Given the description of an element on the screen output the (x, y) to click on. 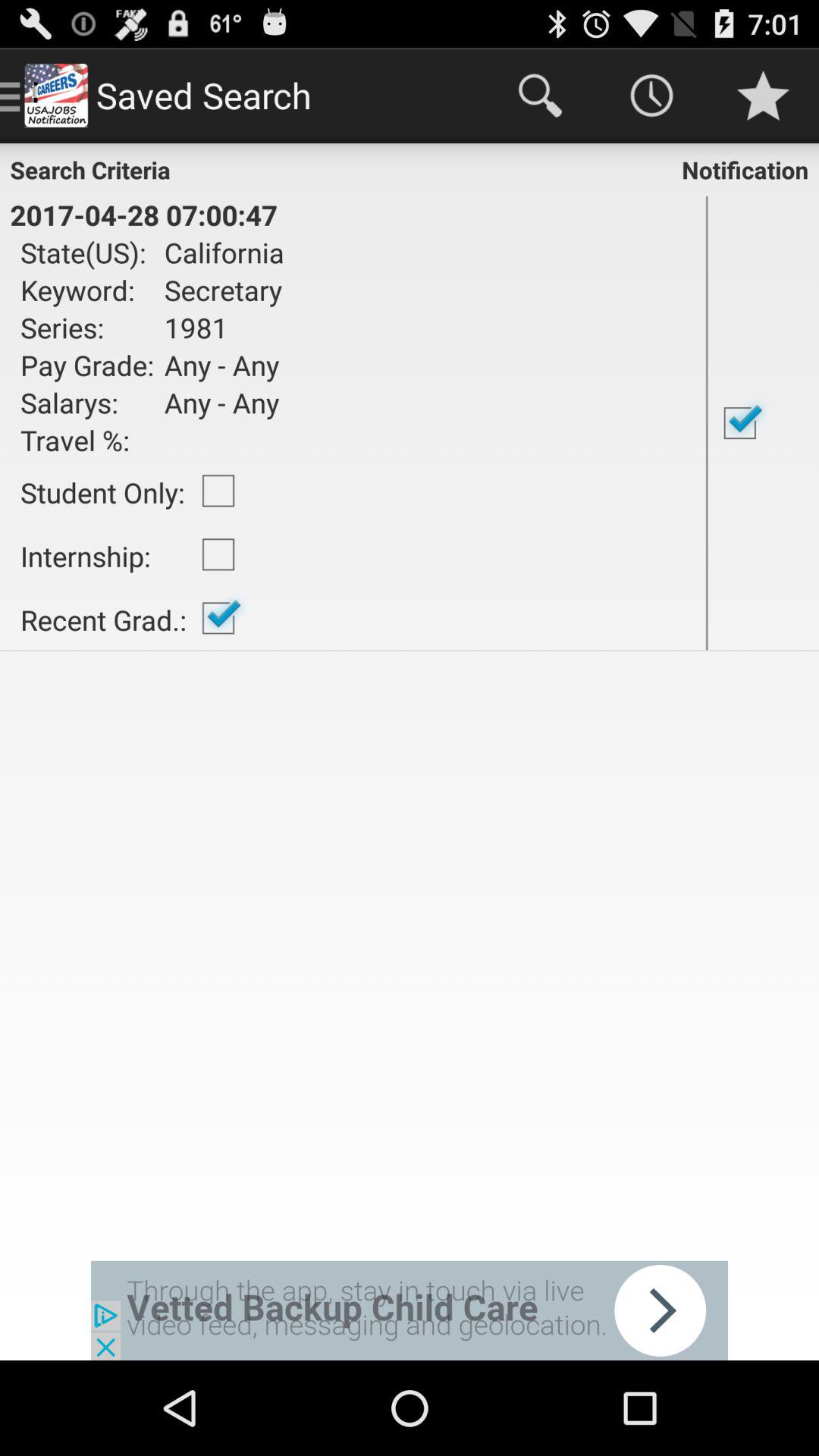
press icon next to notification app (143, 214)
